Given the description of an element on the screen output the (x, y) to click on. 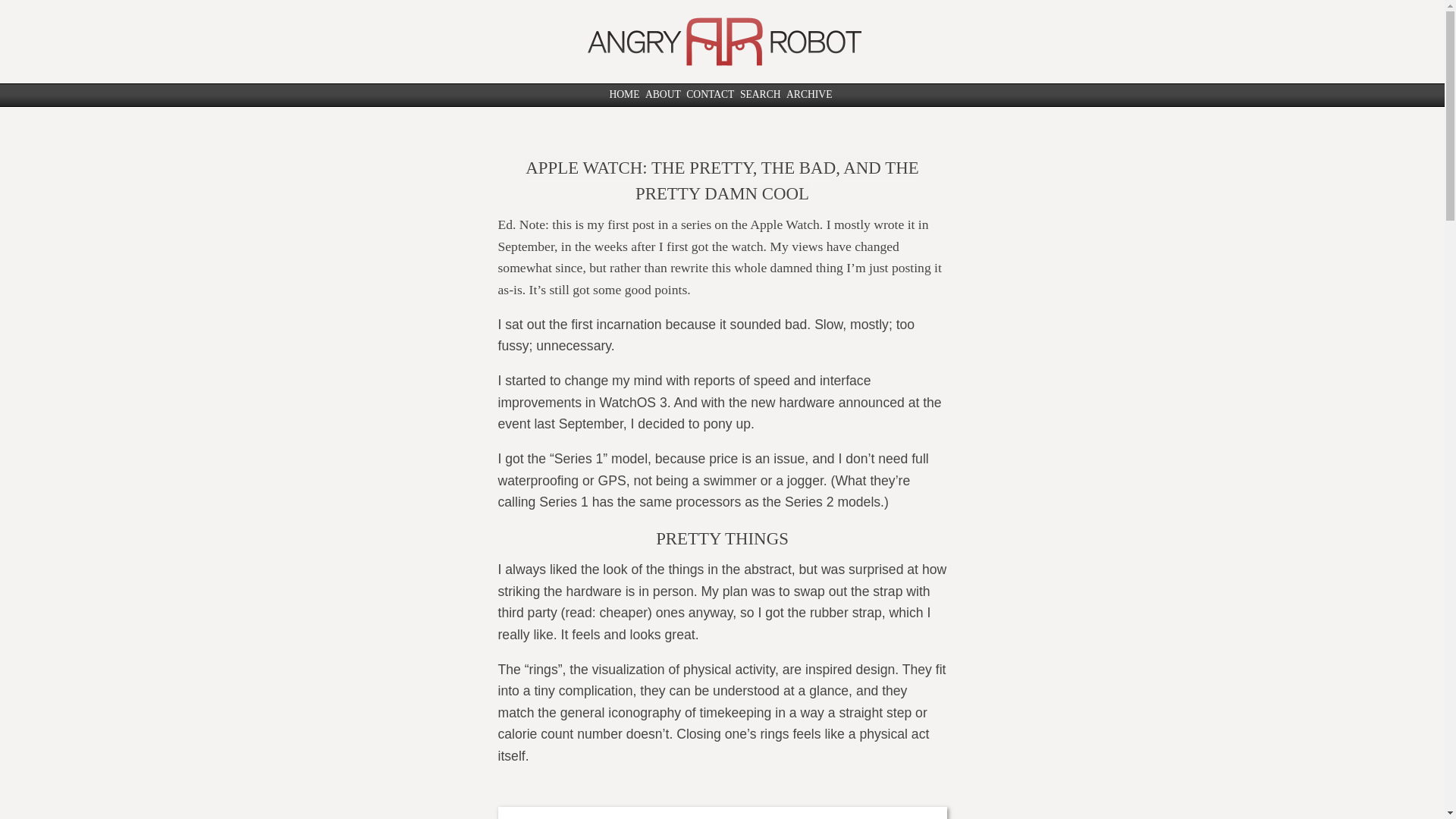
SEARCH (759, 93)
CONTACT (709, 93)
HOME (623, 93)
ARCHIVE (808, 93)
APPLE WATCH: THE PRETTY, THE BAD, AND THE PRETTY DAMN COOL (721, 180)
ABOUT (663, 93)
